Given the description of an element on the screen output the (x, y) to click on. 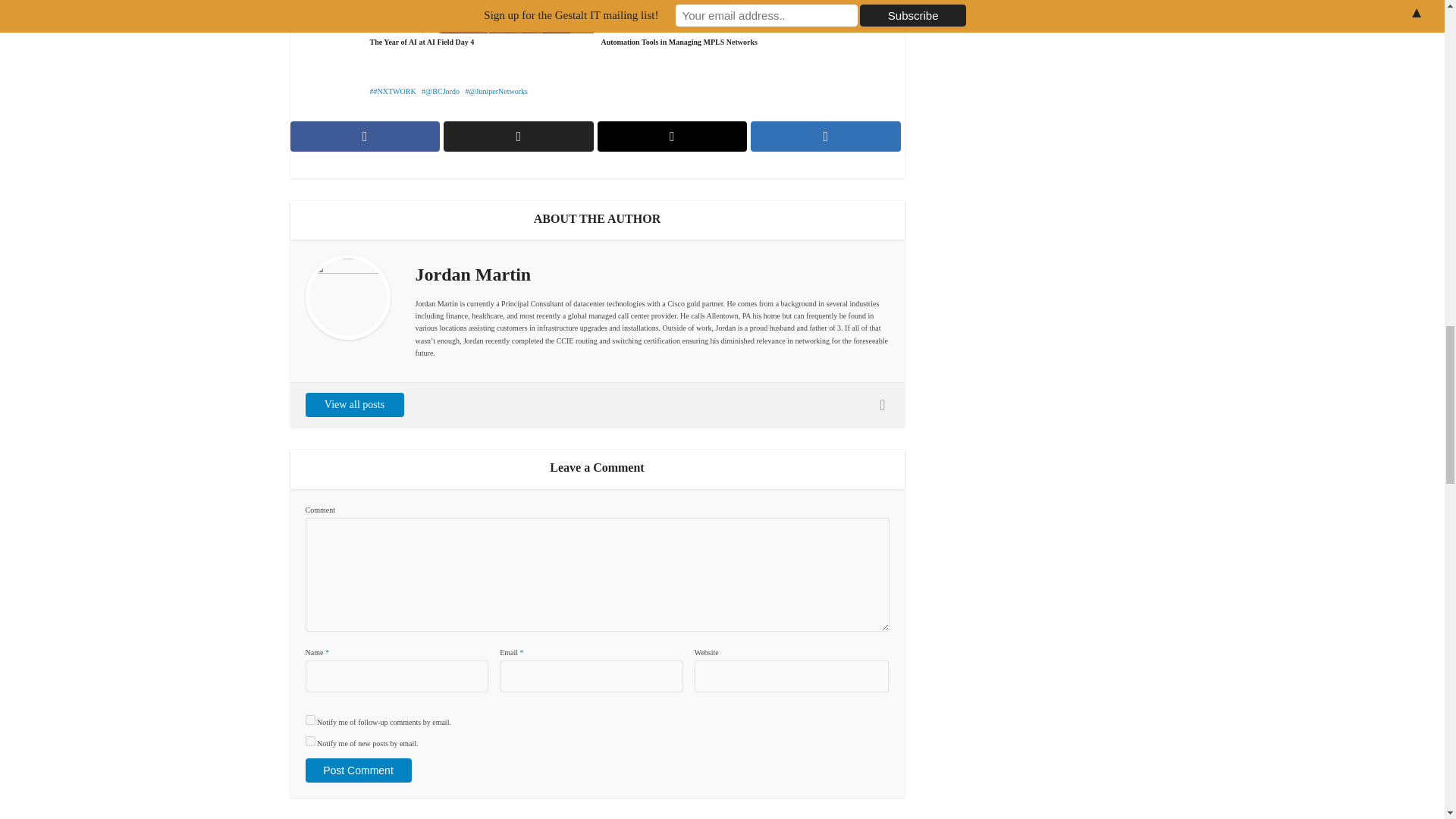
subscribe (309, 719)
Post Comment (357, 770)
subscribe (309, 741)
